Given the description of an element on the screen output the (x, y) to click on. 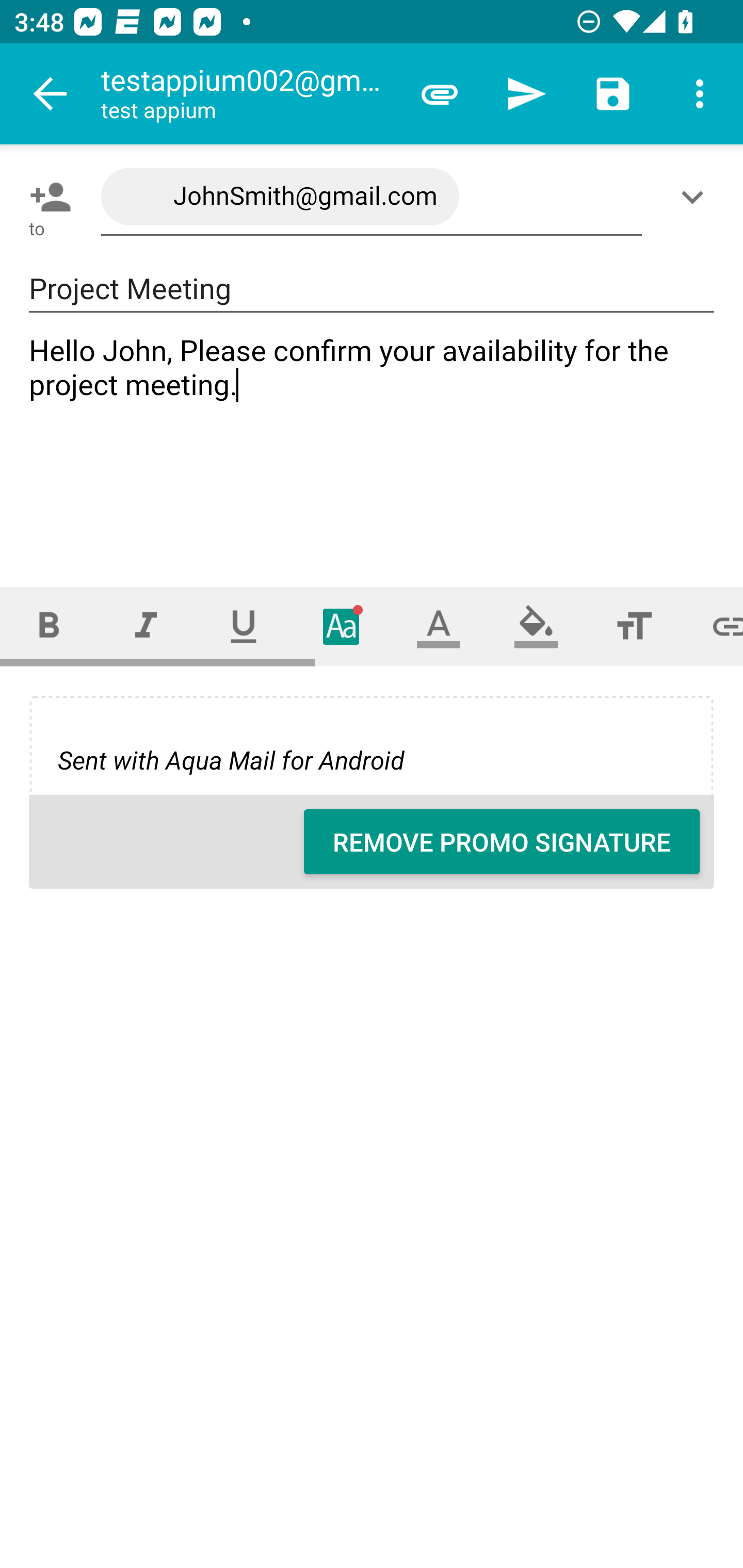
Navigate up (50, 93)
testappium002@gmail.com test appium (248, 93)
Attach (439, 93)
Send (525, 93)
Save (612, 93)
More options (699, 93)
JohnSmith@gmail.com,  (371, 197)
Pick contact: To (46, 196)
Show/Add CC/BCC (696, 196)
Project Meeting (371, 288)
Bold (48, 626)
Italic (145, 626)
Underline (243, 626)
Typeface (font) (341, 626)
Text color (438, 626)
Fill color (536, 626)
Font size (633, 626)
Set link (712, 626)
REMOVE PROMO SIGNATURE (501, 841)
